Given the description of an element on the screen output the (x, y) to click on. 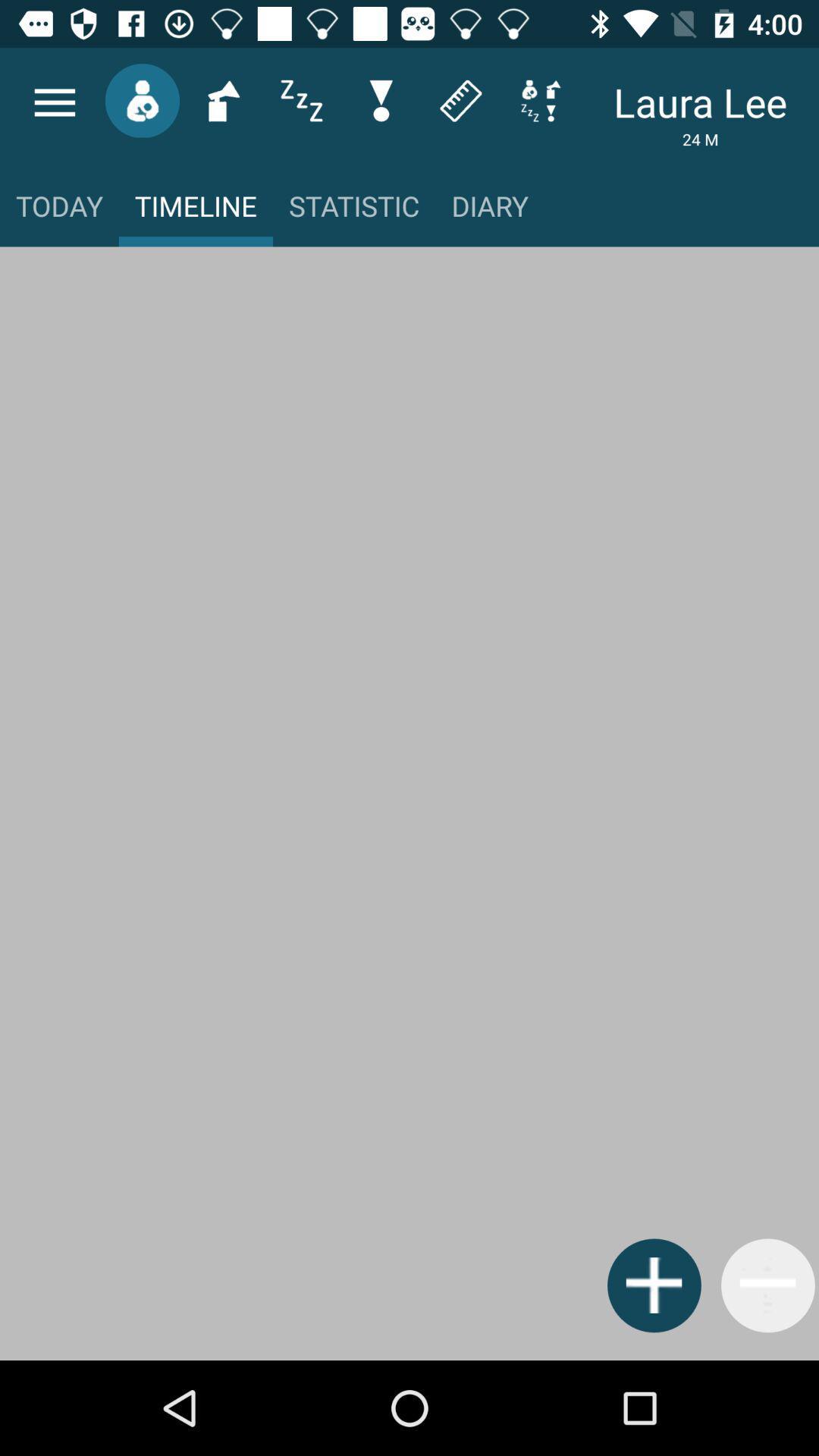
click on the fifth icon on the top left of the page (380, 101)
